Given the description of an element on the screen output the (x, y) to click on. 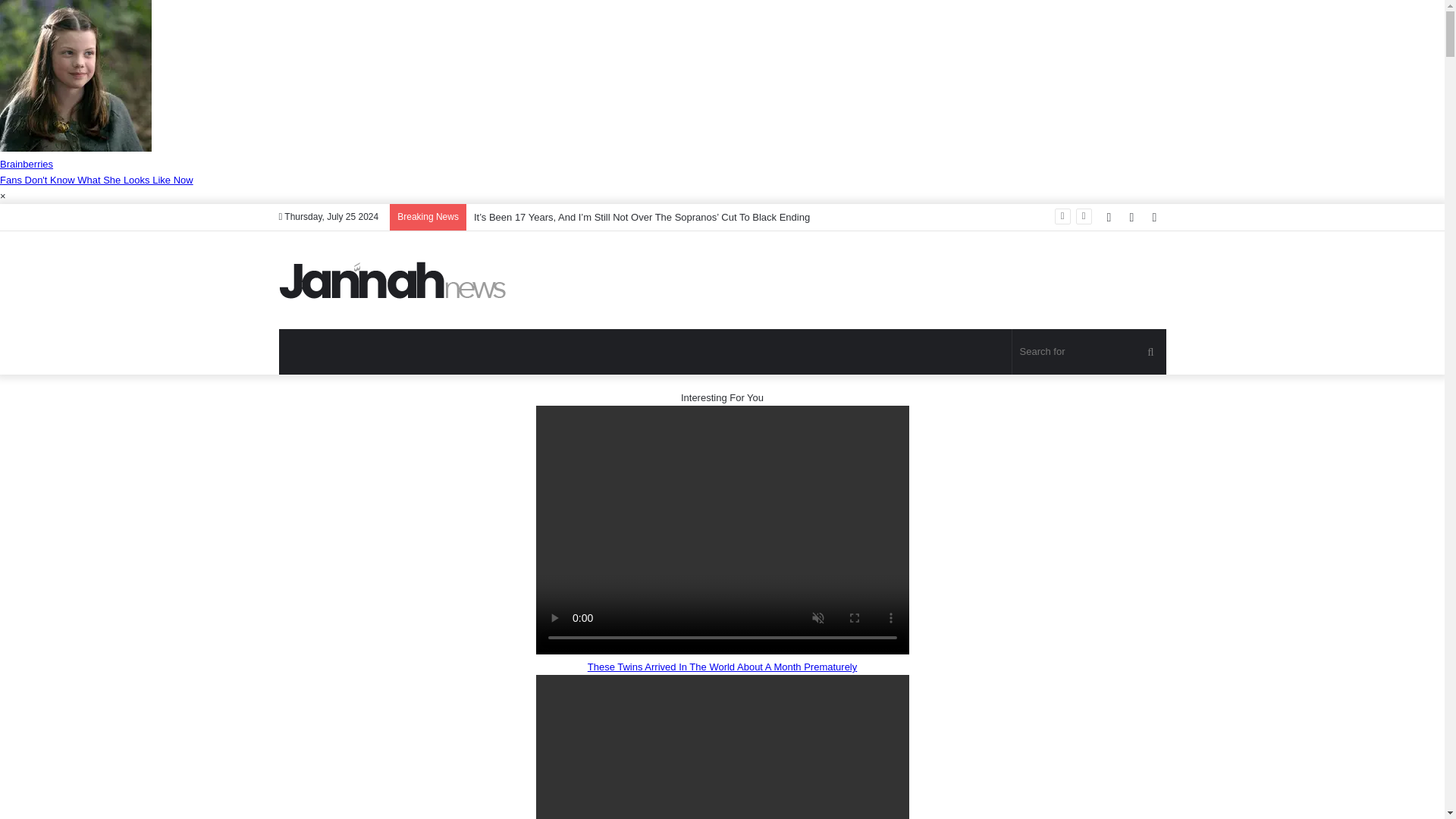
Movie News (392, 279)
Search for (1088, 351)
